Given the description of an element on the screen output the (x, y) to click on. 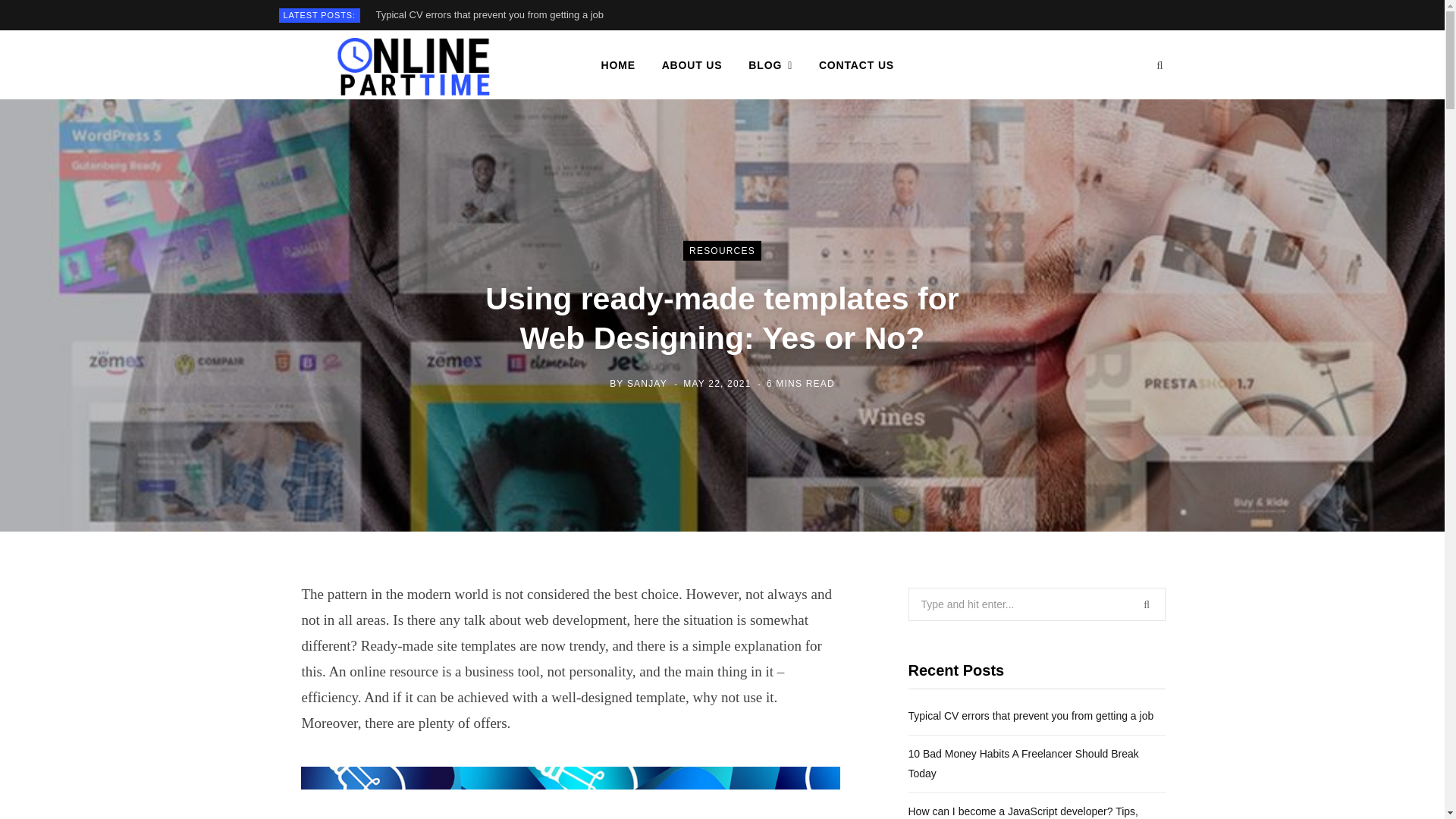
BLOG (769, 65)
CONTACT US (856, 65)
Posts by sanjay (646, 383)
SANJAY (646, 383)
ABOUT US (691, 65)
RESOURCES (721, 250)
Online Part Time (415, 65)
Typical CV errors that prevent you from getting a job (493, 15)
Typical CV errors that prevent you from getting a job (493, 15)
